Given the description of an element on the screen output the (x, y) to click on. 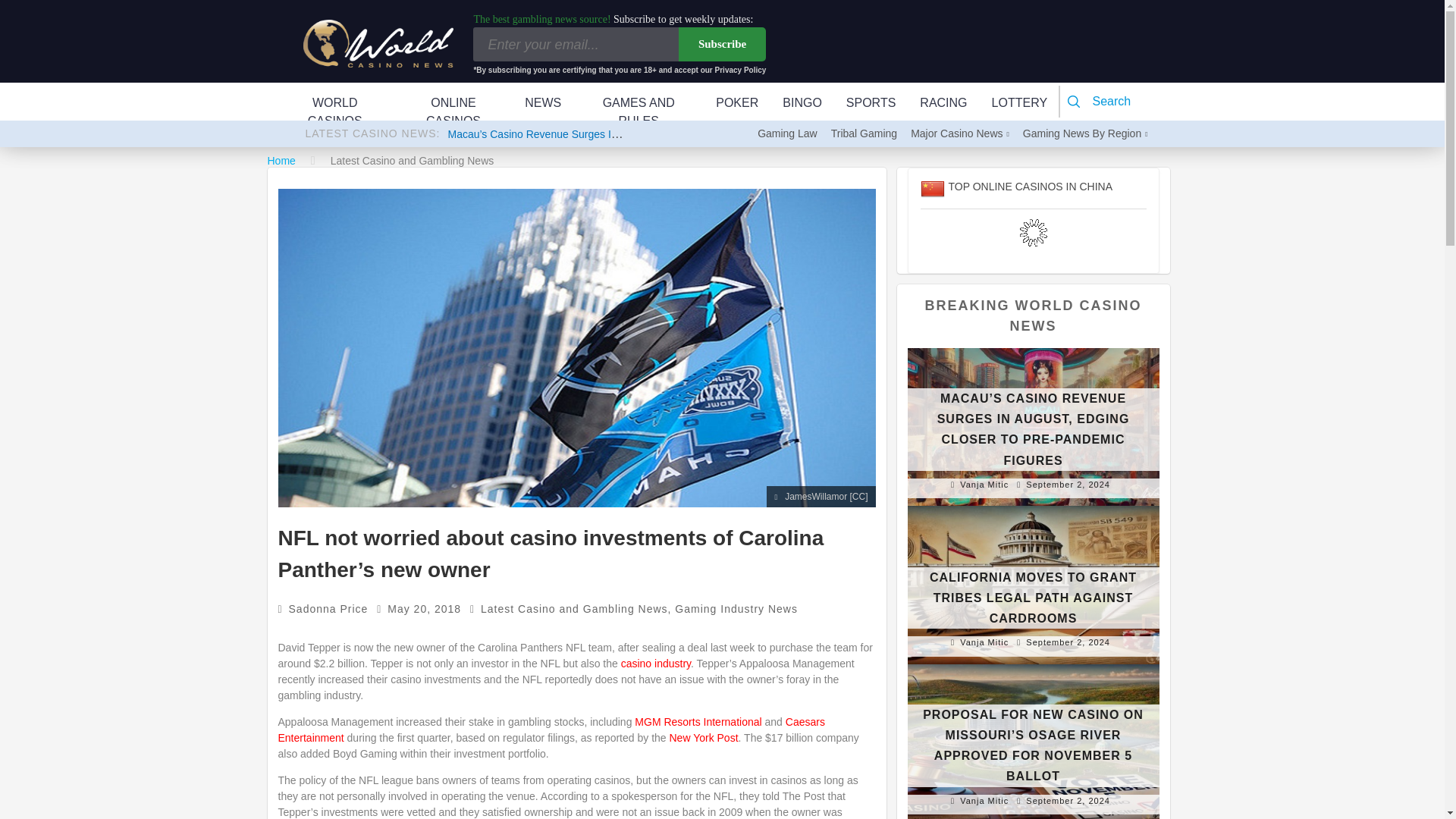
View all posts in Latest Casino and Gambling News (574, 608)
Subscribe (722, 44)
View all posts in Gaming Industry News (736, 608)
View all posts in Latest Casino and Gambling News (412, 160)
